Given the description of an element on the screen output the (x, y) to click on. 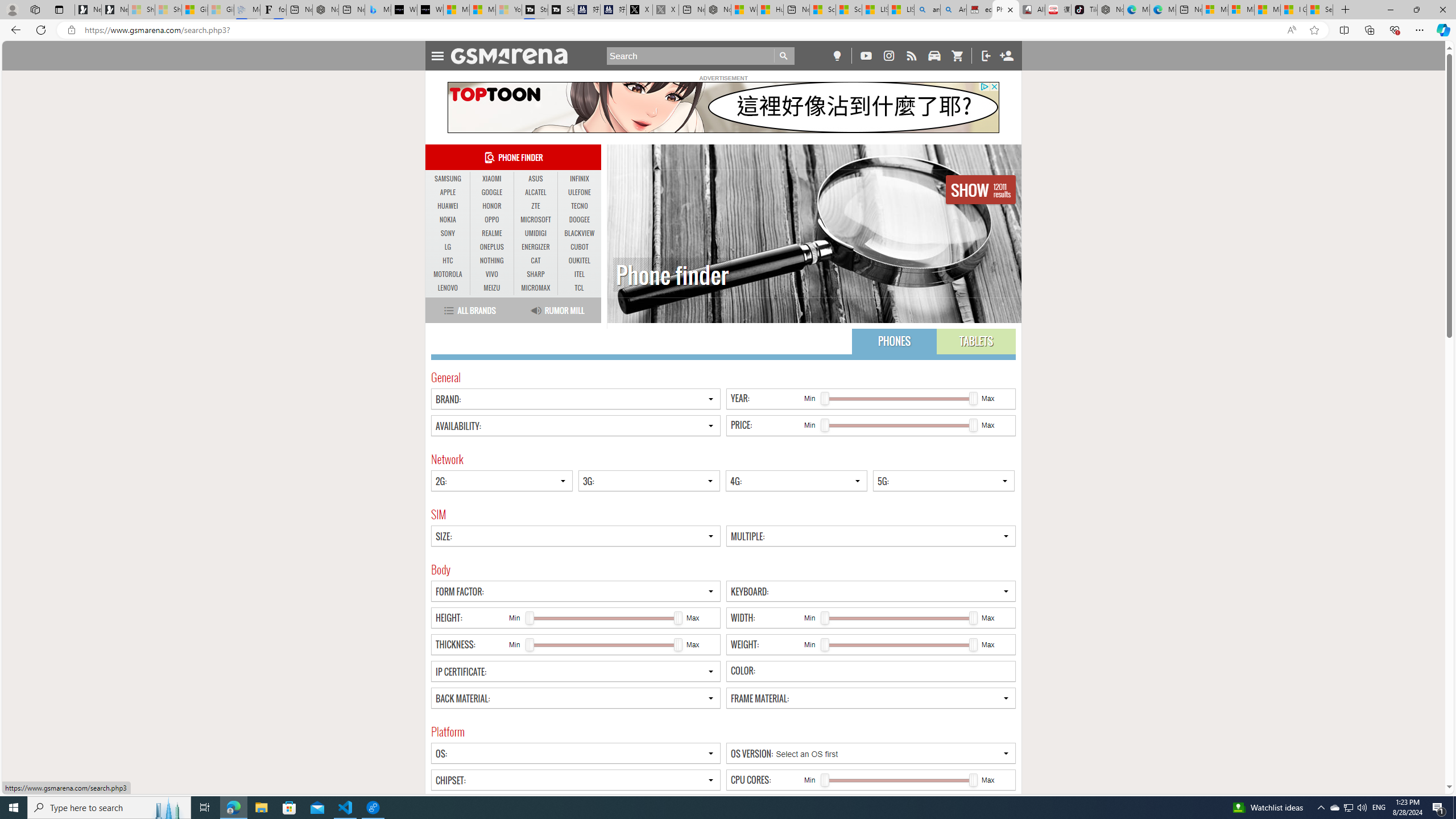
ALCATEL (535, 192)
To get missing image descriptions, open the context menu. (722, 106)
REALME (491, 233)
MEIZU (491, 287)
MICROMAX (535, 287)
ITEL (579, 273)
